Given the description of an element on the screen output the (x, y) to click on. 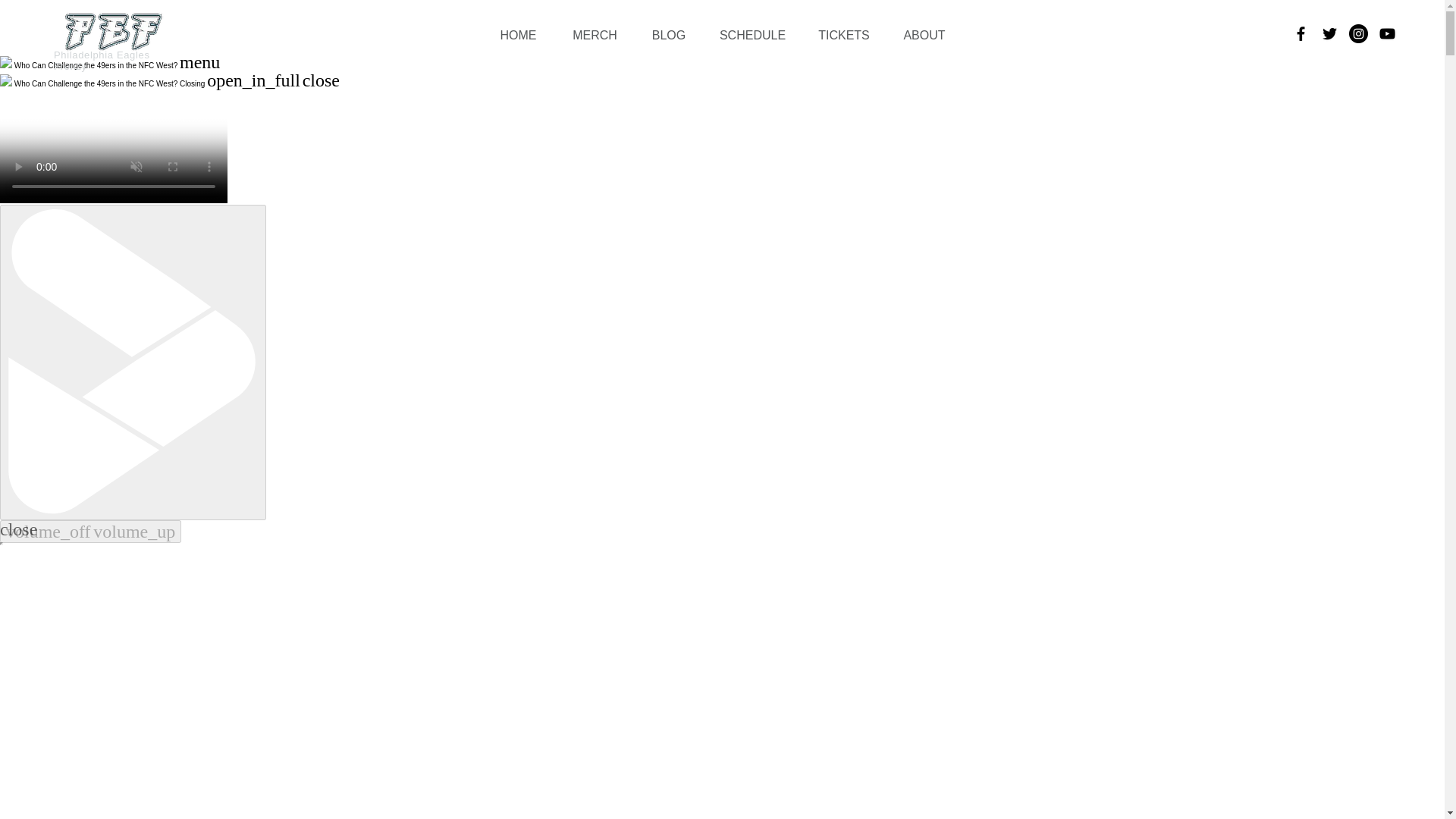
BLOG (668, 35)
TICKETS (843, 35)
SCHEDULE (752, 35)
HOME (517, 35)
